Given the description of an element on the screen output the (x, y) to click on. 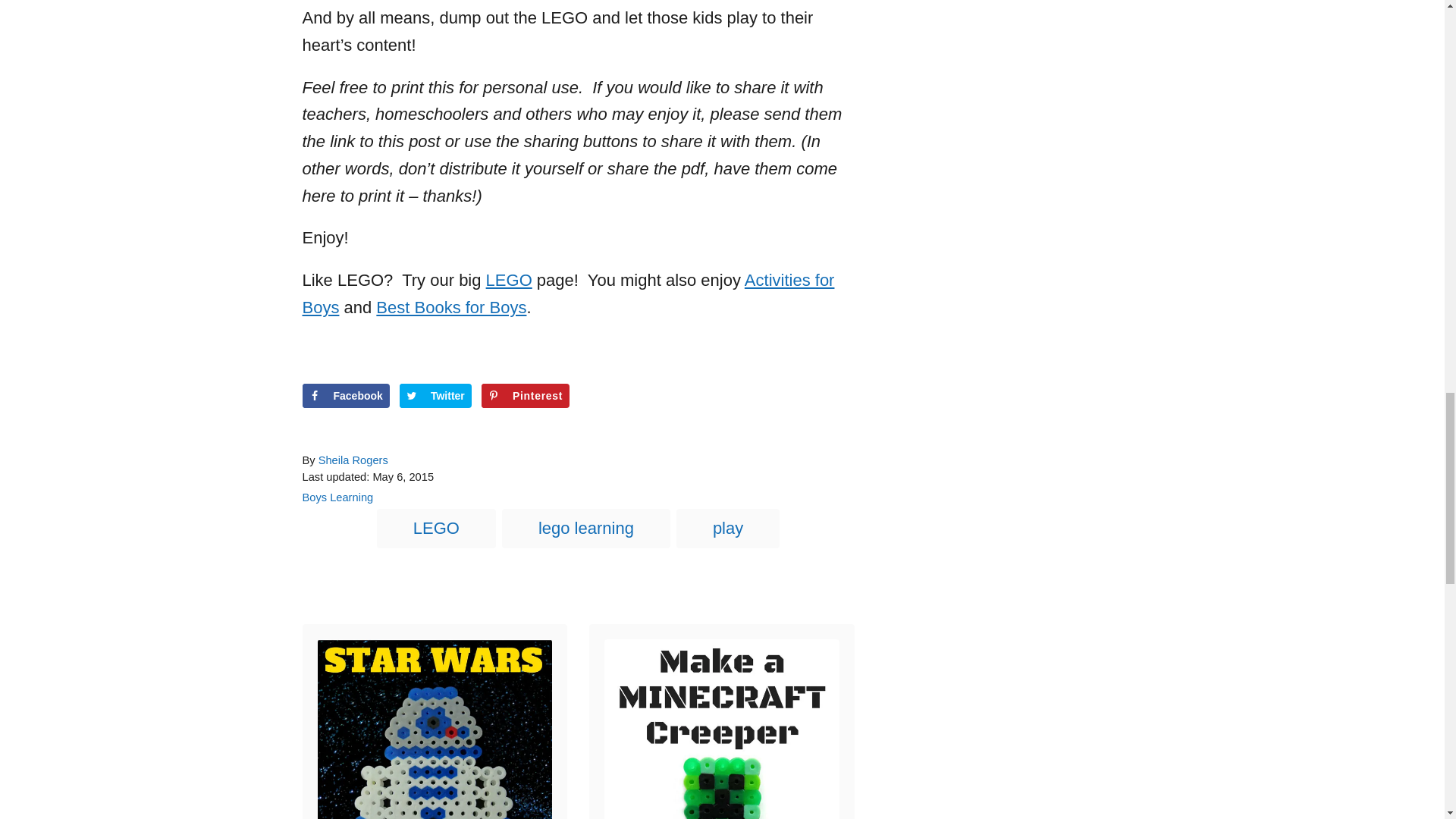
Share on Facebook (344, 395)
Share on Twitter (434, 395)
Sheila Rogers (353, 460)
Facebook (344, 395)
Boys Learning (336, 497)
LEGO (436, 527)
Best Books for Boys (450, 307)
LEGO (509, 280)
Activities for Boys (567, 293)
Pinterest (525, 395)
